Given the description of an element on the screen output the (x, y) to click on. 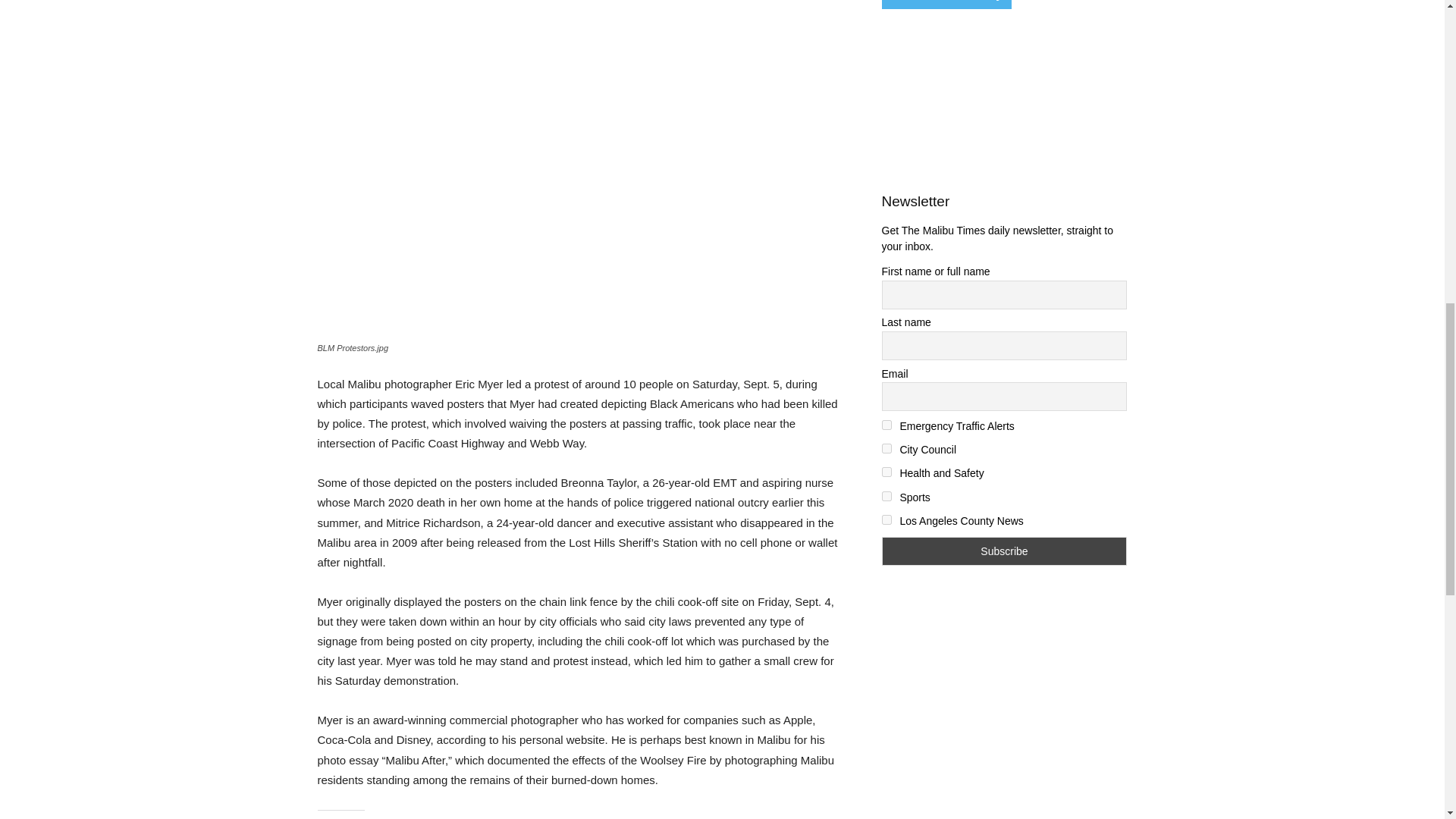
2 (885, 424)
3 (885, 448)
4 (885, 471)
5 (885, 496)
Subscribe (1003, 551)
6 (885, 519)
